Given the description of an element on the screen output the (x, y) to click on. 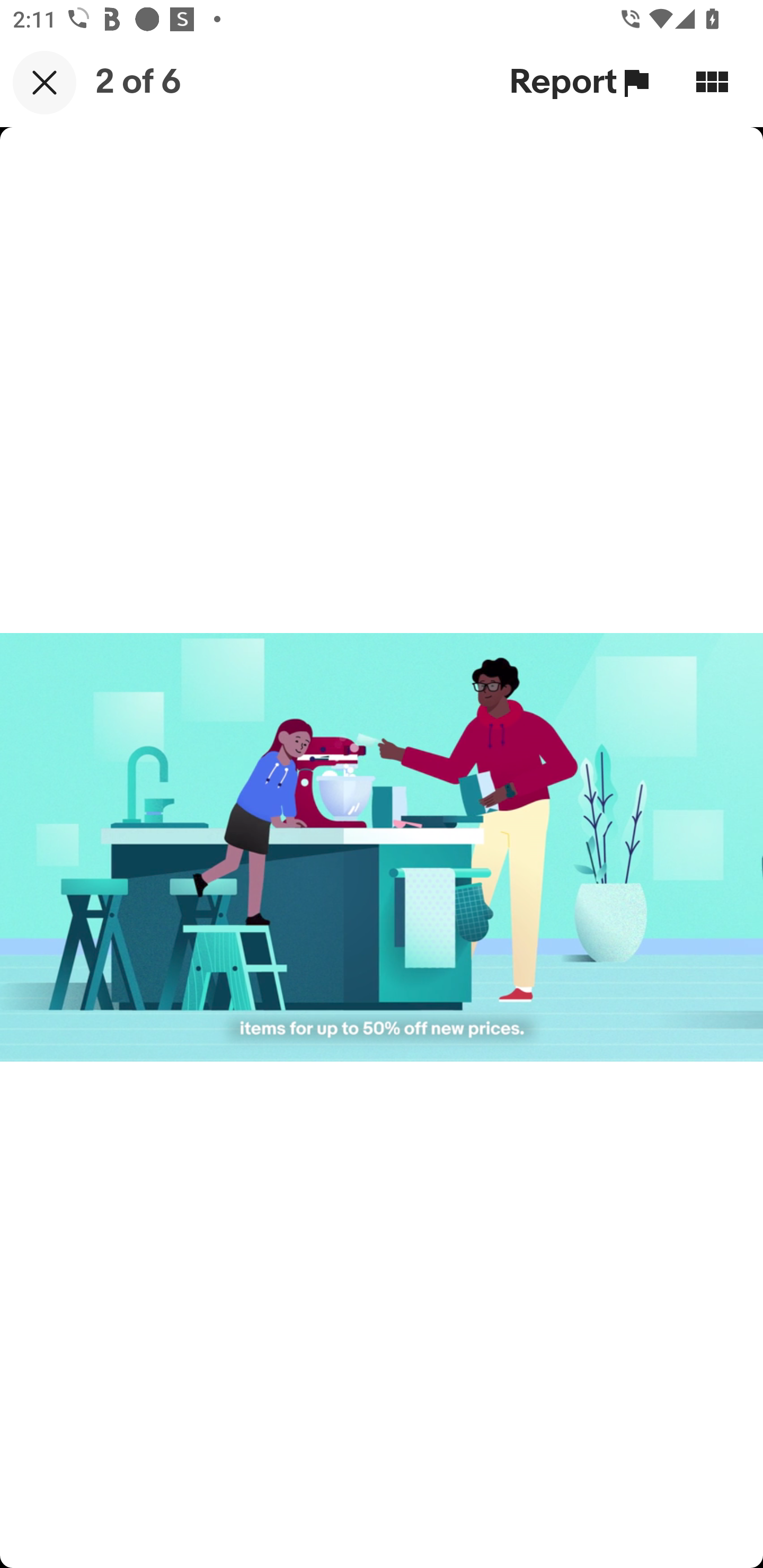
Close (44, 82)
Report Report this item (581, 82)
View in Gallery (711, 81)
